Given the description of an element on the screen output the (x, y) to click on. 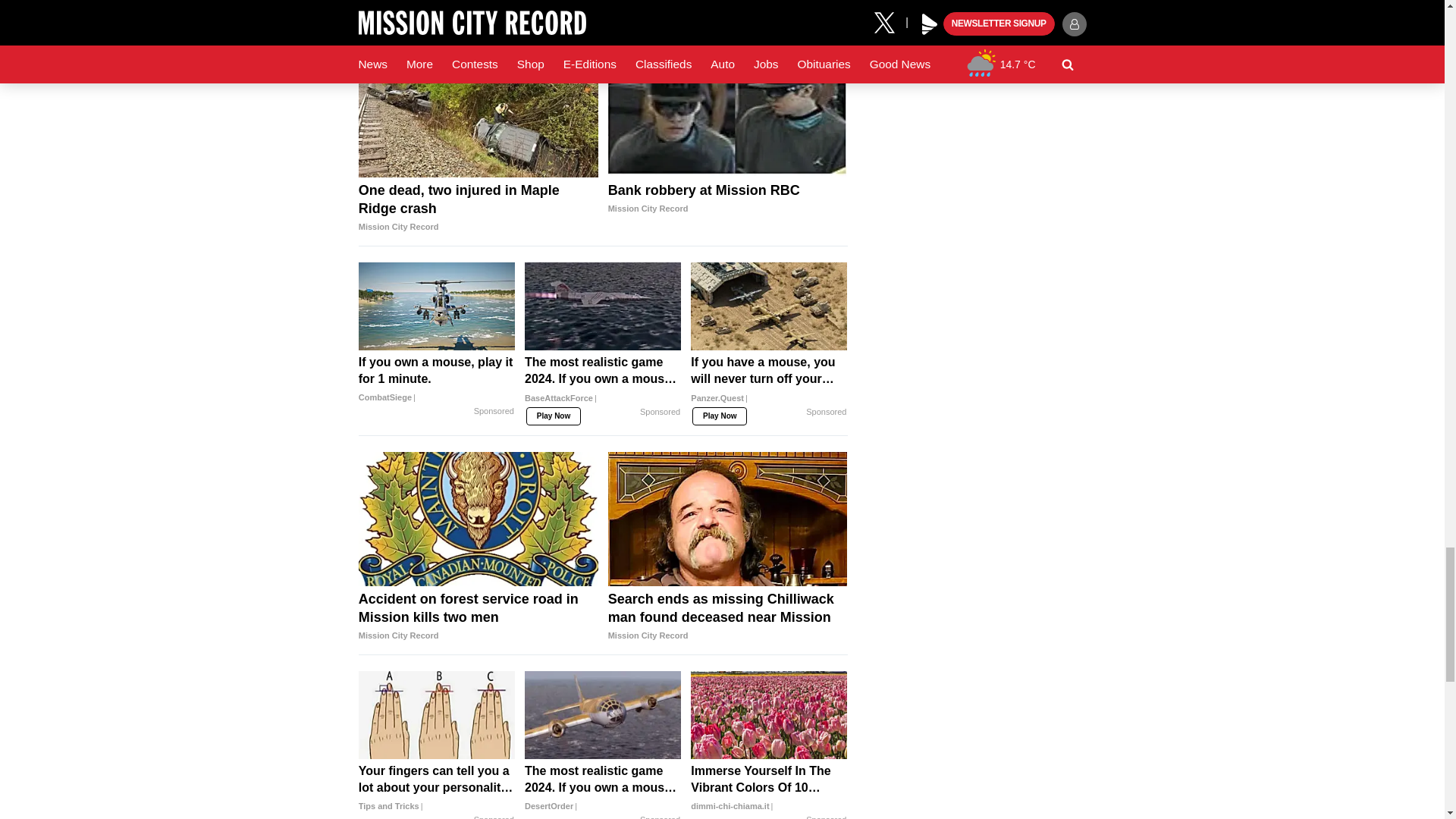
One dead, two injured in Maple Ridge crash (478, 207)
Bank robbery at Mission RBC (727, 109)
One dead, two injured in Maple Ridge crash (478, 109)
Bank robbery at Mission RBC (727, 198)
3rd party ad content (602, 8)
